Given the description of an element on the screen output the (x, y) to click on. 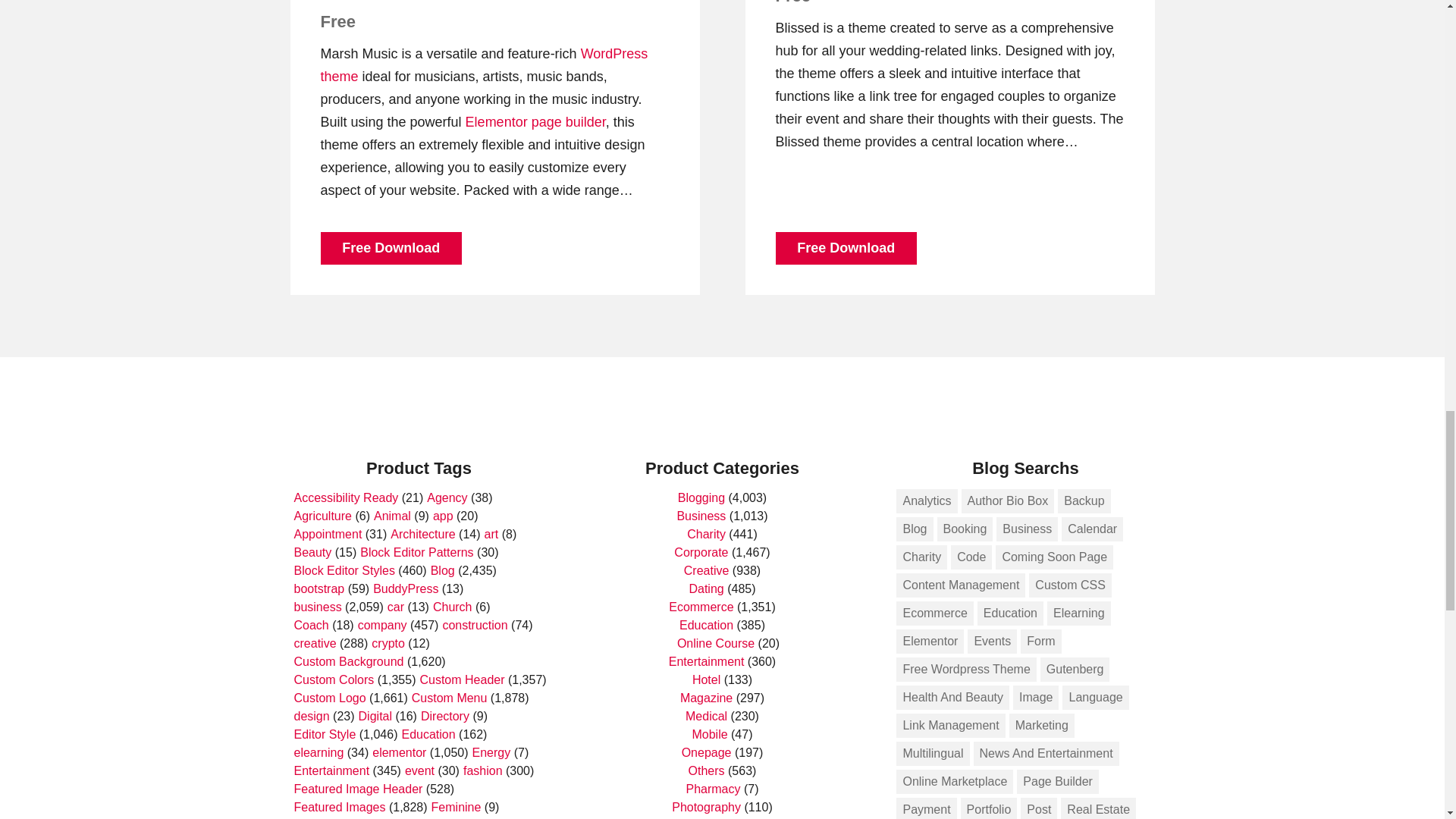
Accessibility Ready (346, 497)
page builder (568, 121)
Get Elementor (496, 121)
Free Download (390, 247)
build your website (568, 121)
Elementor (496, 121)
Agency (446, 497)
Appointment (328, 533)
Free Marsh Music WordPress theme (468, 2)
Animal (392, 515)
